Given the description of an element on the screen output the (x, y) to click on. 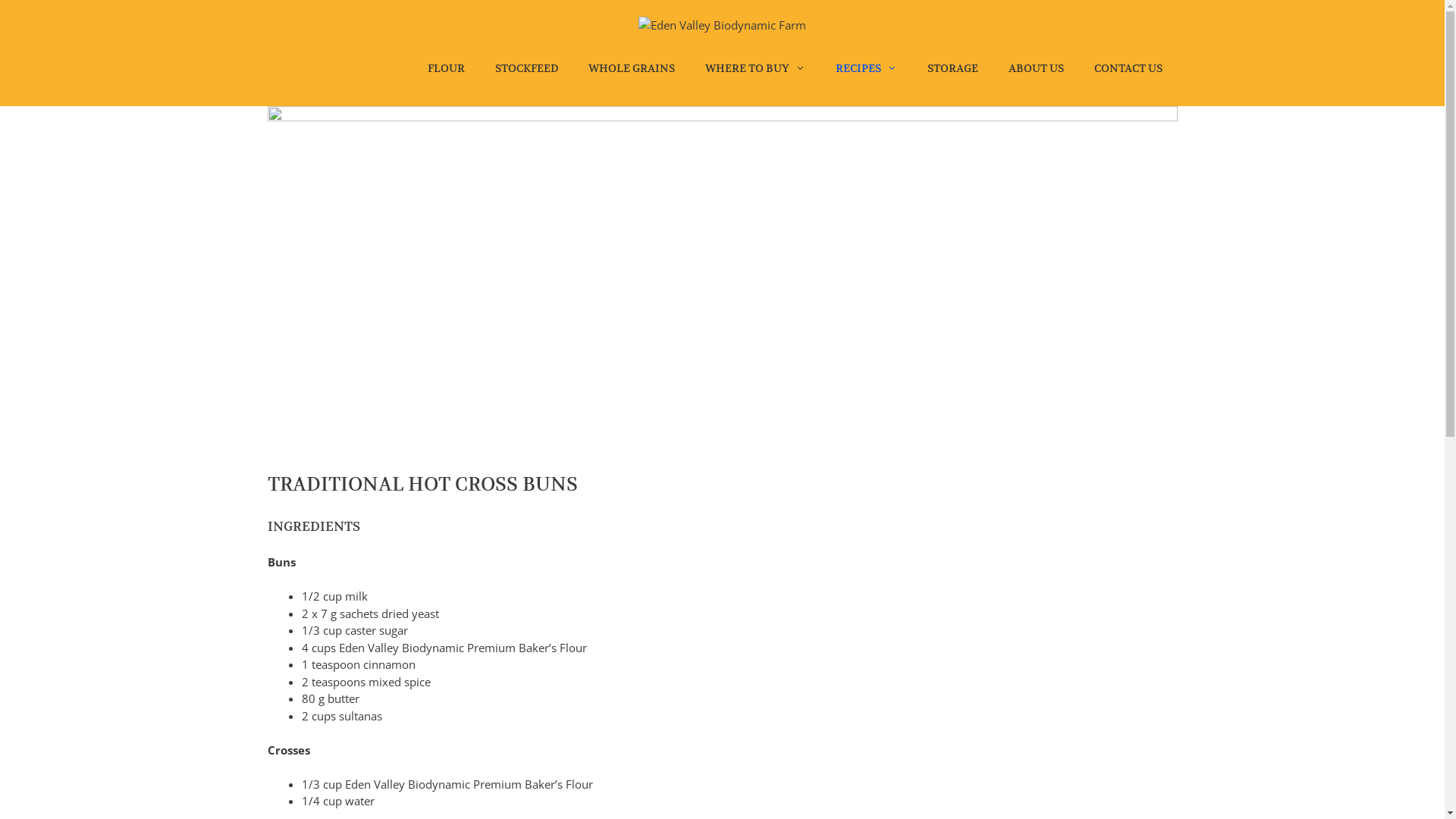
CONTACT US Element type: text (1127, 68)
ABOUT US Element type: text (1036, 68)
WHOLE GRAINS Element type: text (631, 68)
WHERE TO BUY Element type: text (755, 68)
Eden Valley Biodynamic Farm Element type: hover (722, 25)
STOCKFEED Element type: text (526, 68)
FLOUR Element type: text (446, 68)
STORAGE Element type: text (951, 68)
RECIPES Element type: text (866, 68)
Eden Valley Biodynamic Farm Element type: hover (722, 23)
